Given the description of an element on the screen output the (x, y) to click on. 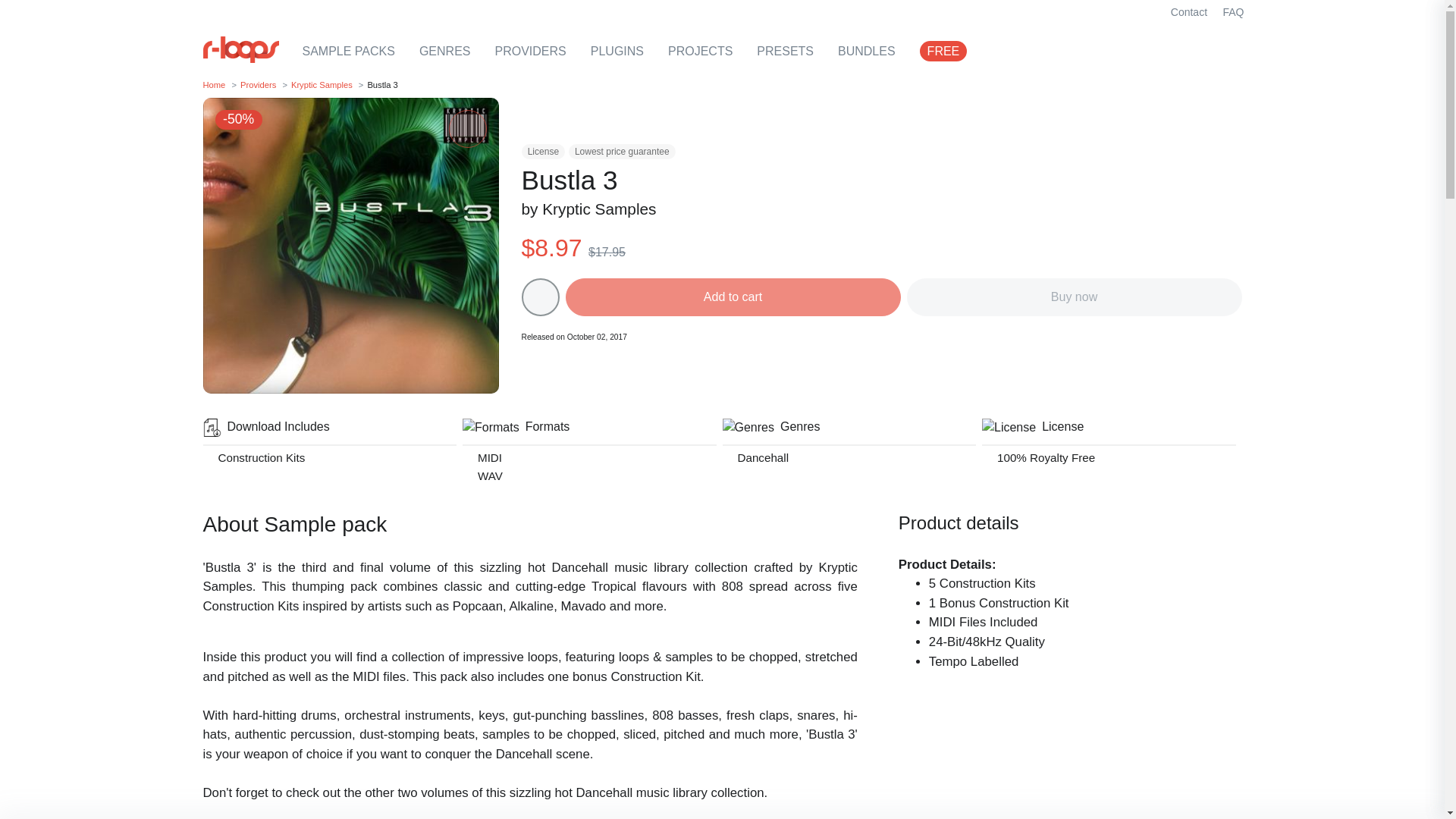
Contact (1188, 11)
Search button (1117, 52)
FAQ (1232, 11)
License sample pack button (543, 151)
Shopping cart button (1152, 52)
Playlist button sample pack Bustla 3 (540, 297)
SAMPLE PACKS (347, 51)
GENRES (444, 51)
Login button (1224, 52)
Add to wishlist button (467, 128)
Wishlist button (1189, 52)
